Given the description of an element on the screen output the (x, y) to click on. 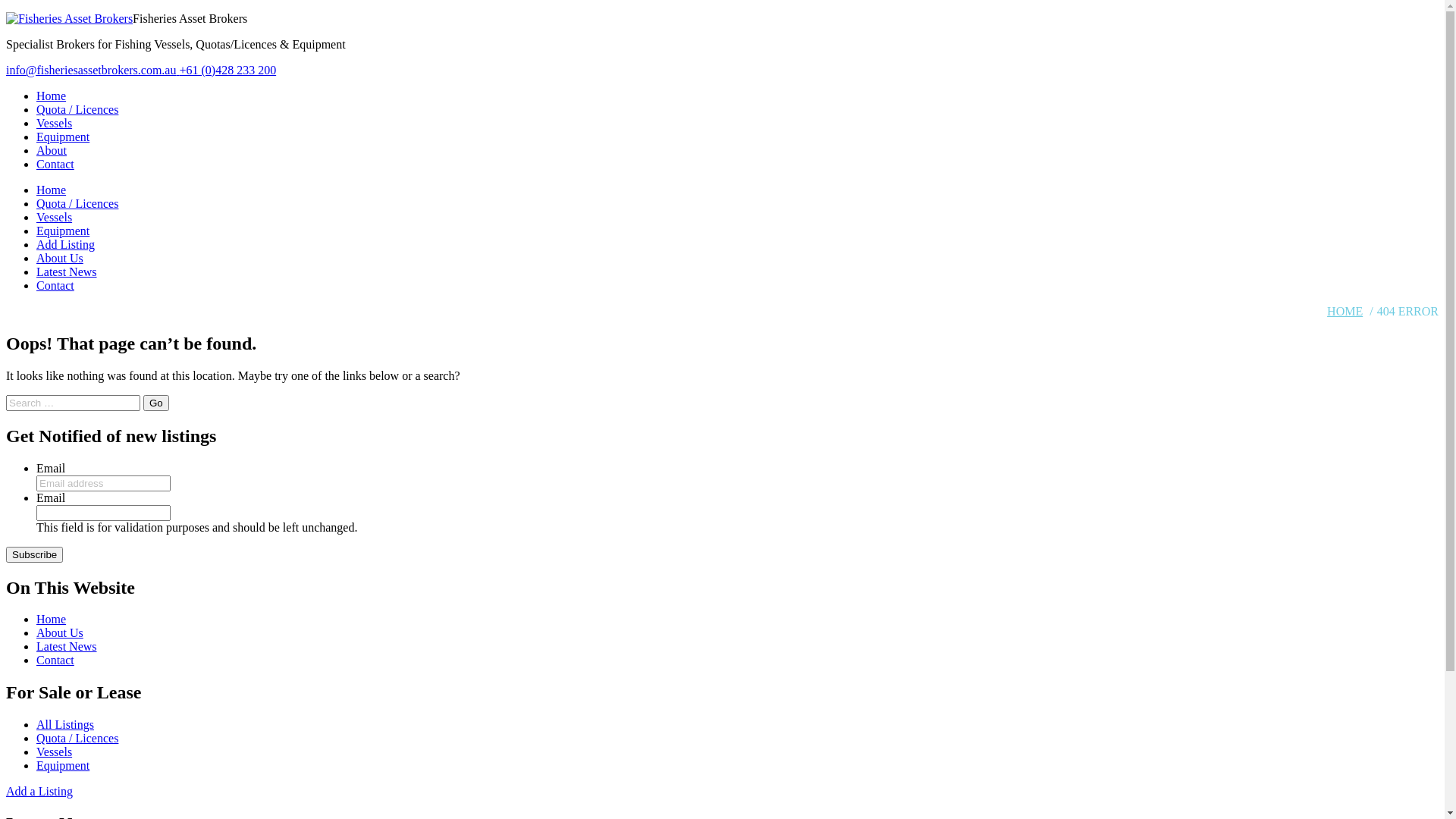
Vessels Element type: text (54, 216)
HOME Element type: text (1344, 310)
Latest News Element type: text (66, 271)
Home Element type: text (50, 618)
Go Element type: text (156, 403)
Equipment Element type: text (62, 765)
Quota / Licences Element type: text (77, 109)
Add a Listing Element type: text (39, 790)
Vessels Element type: text (54, 751)
About Us Element type: text (59, 257)
Contact Element type: text (55, 659)
Subscribe Element type: text (34, 554)
Quota / Licences Element type: text (77, 737)
Skip to content Element type: text (5, 11)
Home Element type: text (50, 189)
info@fisheriesassetbrokers.com.au Element type: text (90, 69)
Quota / Licences Element type: text (77, 203)
+61 (0)428 233 200 Element type: text (225, 69)
About Element type: text (51, 150)
Equipment Element type: text (62, 136)
Contact Element type: text (55, 285)
All Listings Element type: text (65, 724)
Equipment Element type: text (62, 230)
Latest News Element type: text (66, 646)
About Us Element type: text (59, 632)
Home Element type: text (50, 95)
Vessels Element type: text (54, 122)
Contact Element type: text (55, 163)
Search for: Element type: hover (73, 403)
Add Listing Element type: text (65, 244)
